Given the description of an element on the screen output the (x, y) to click on. 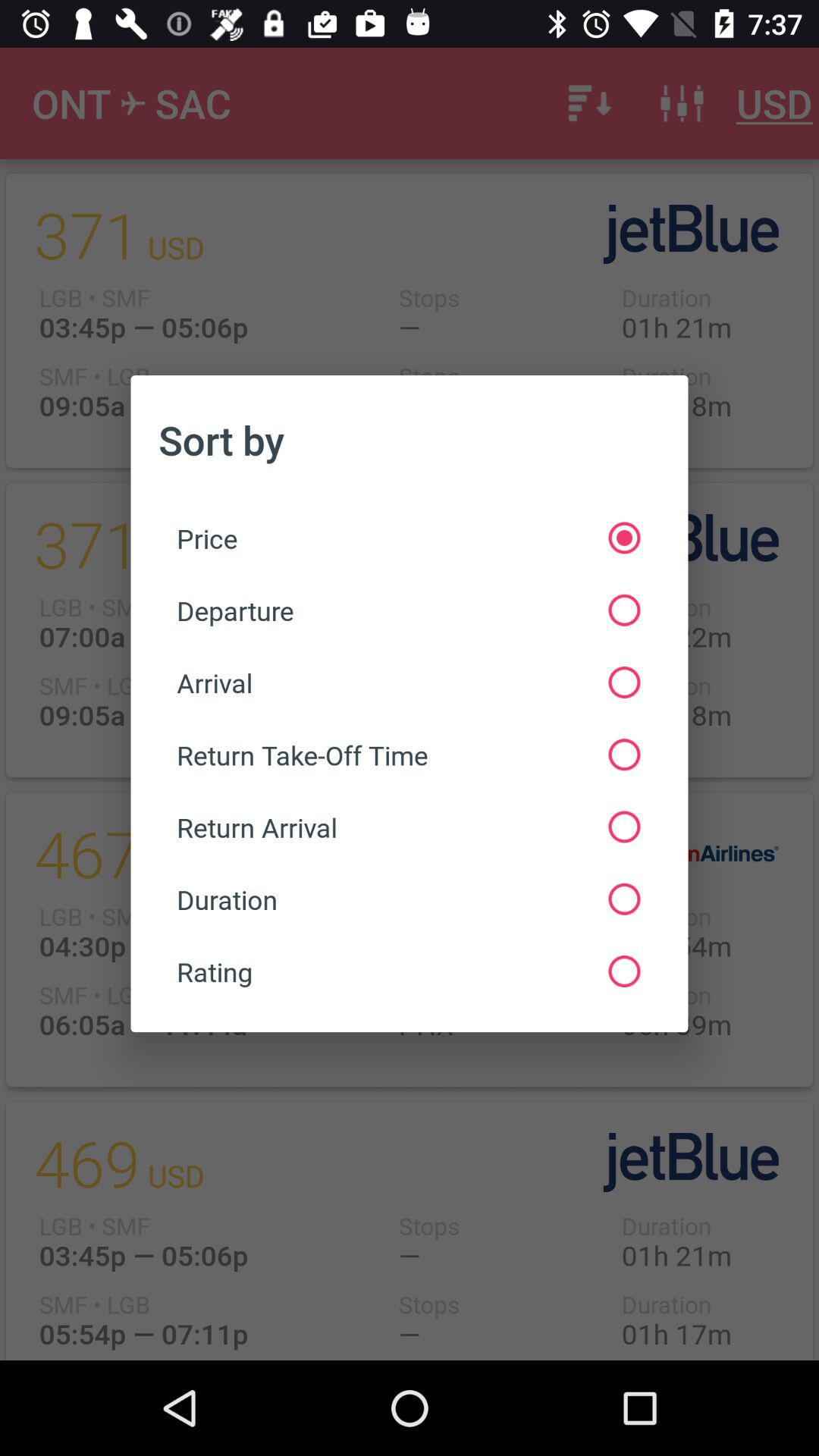
choose the rating at the bottom (408, 971)
